Given the description of an element on the screen output the (x, y) to click on. 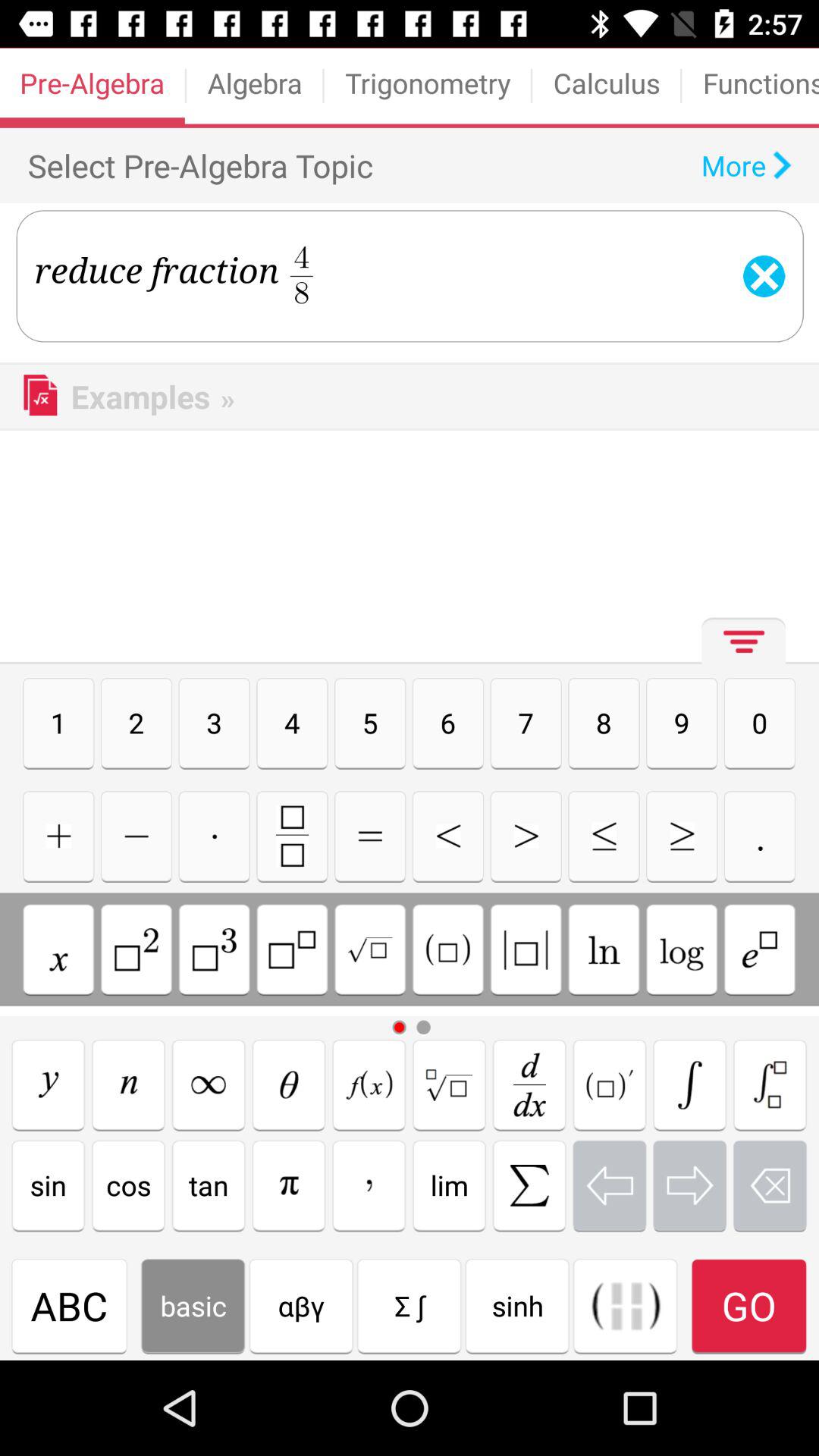
select this option (448, 949)
